Given the description of an element on the screen output the (x, y) to click on. 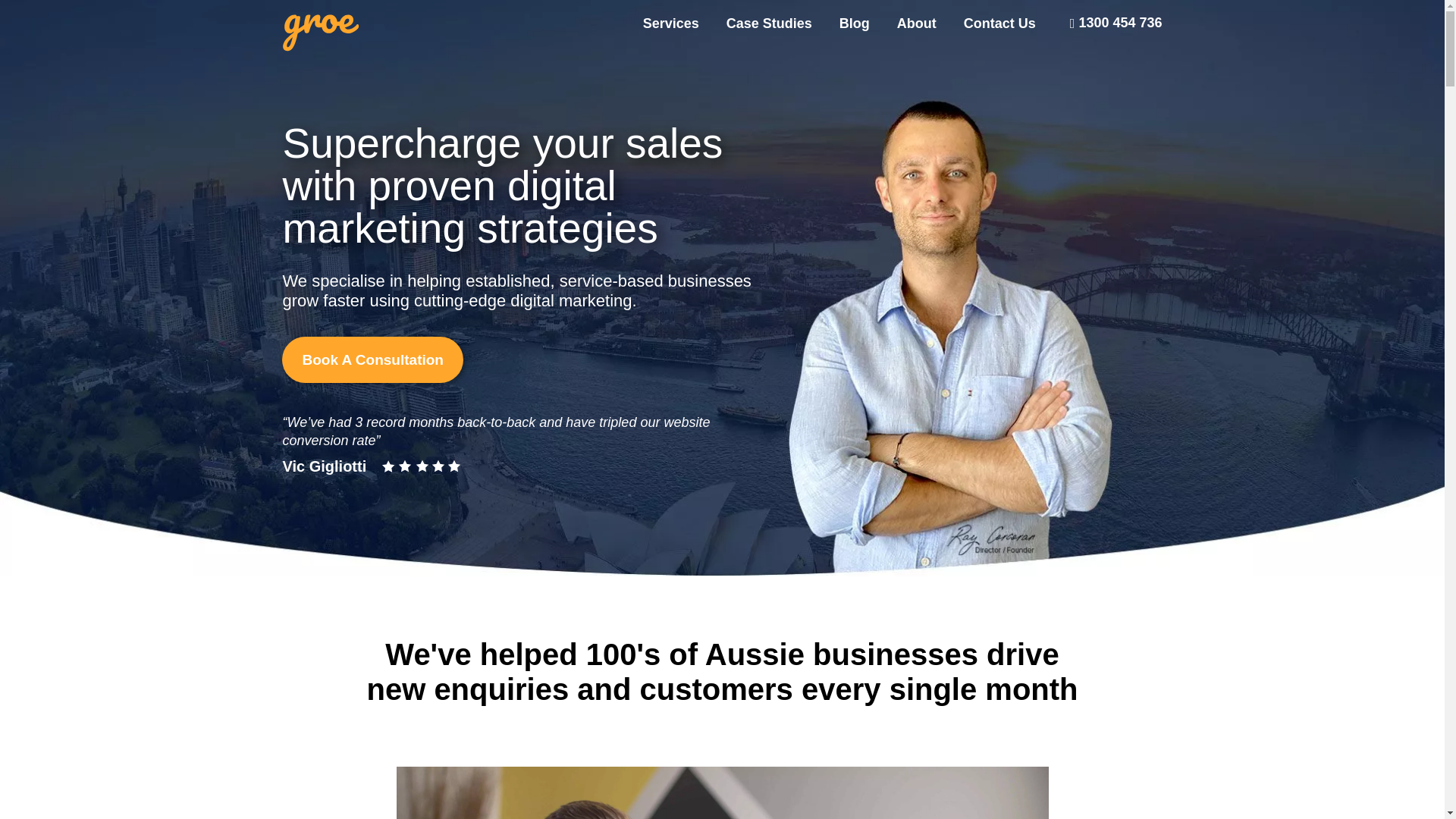
Services Element type: text (670, 22)
About Element type: text (916, 22)
Book A Consultation Element type: text (372, 359)
1300 454 736 Element type: text (1114, 22)
Case Studies Element type: text (768, 22)
Blog Element type: text (854, 22)
Contact Us Element type: text (992, 22)
